Given the description of an element on the screen output the (x, y) to click on. 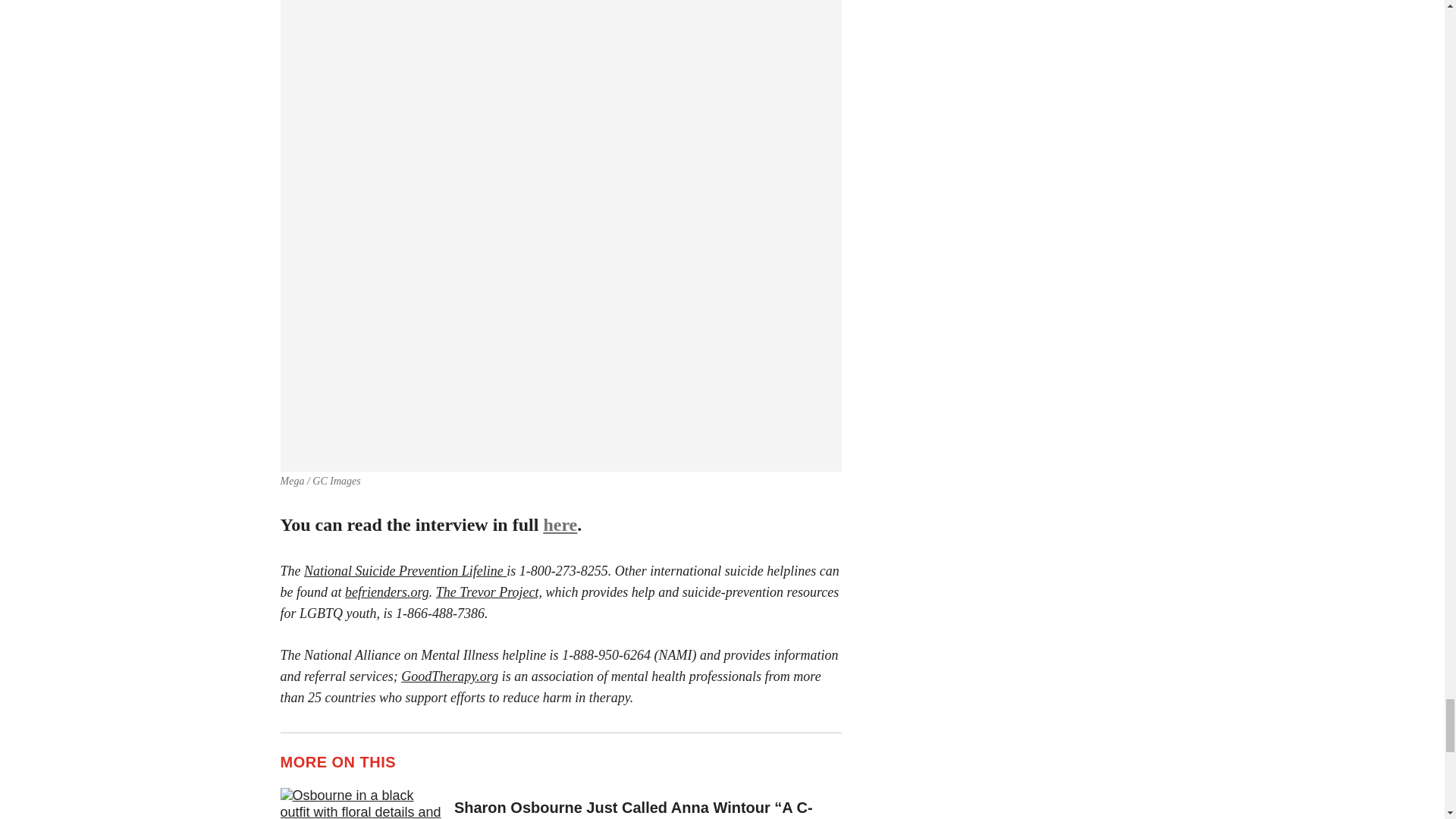
National Suicide Prevention Lifeline (403, 570)
here (559, 524)
GoodTherapy.org (449, 676)
The Trevor Project, (488, 591)
befrienders.org (387, 591)
